Given the description of an element on the screen output the (x, y) to click on. 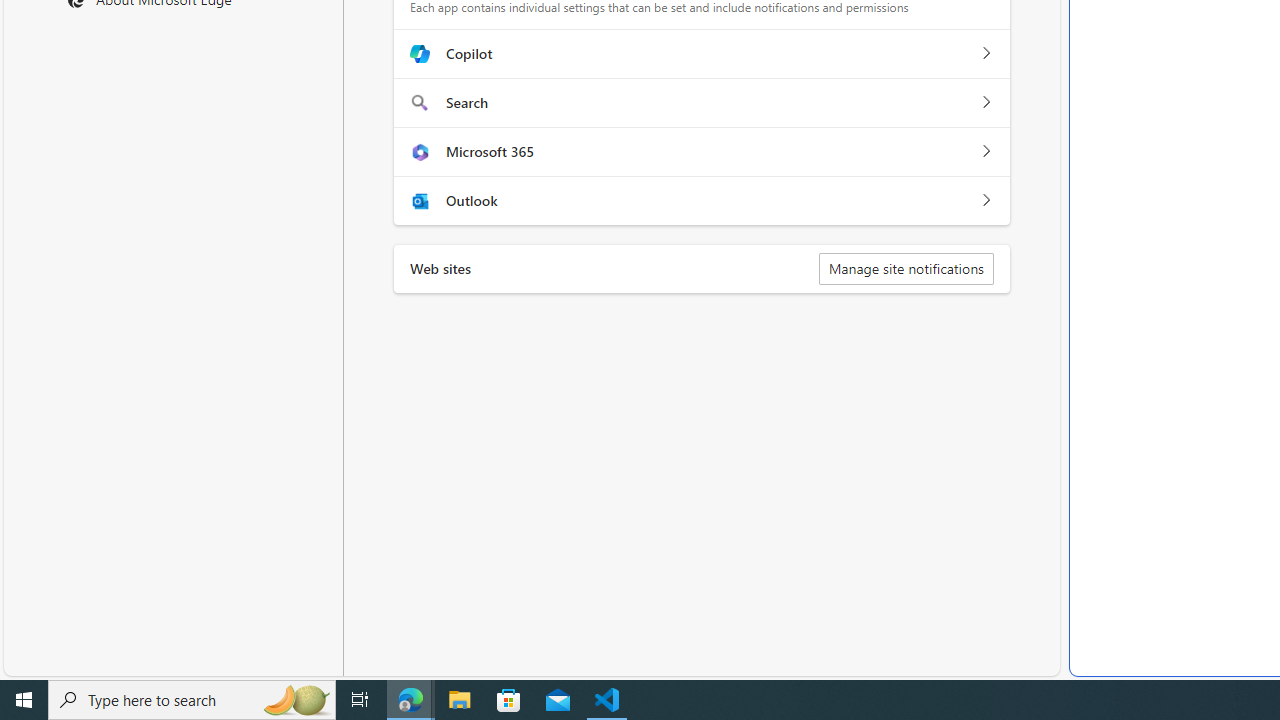
Copilot (985, 54)
Manage site notifications (905, 268)
